Given the description of an element on the screen output the (x, y) to click on. 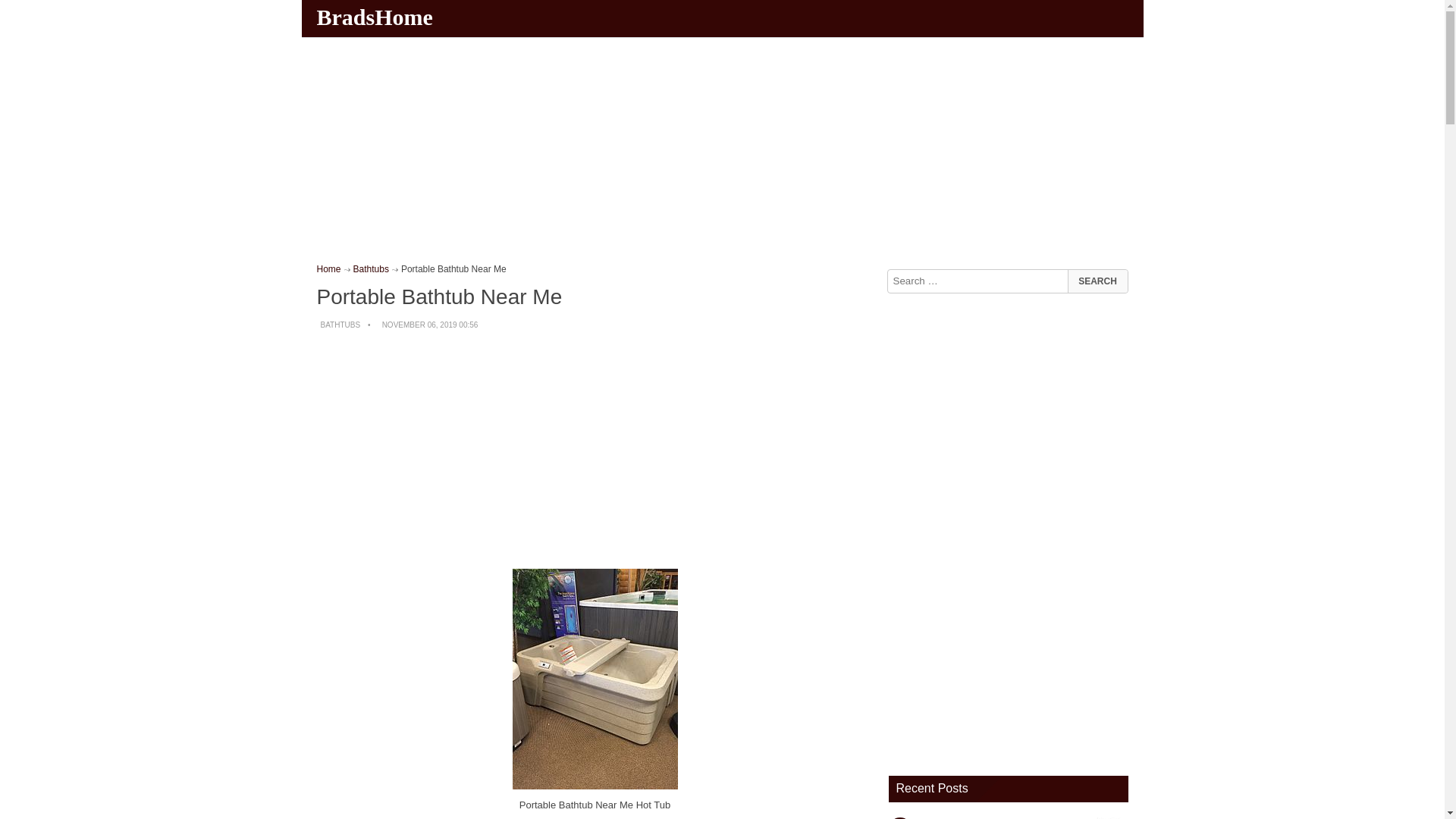
Search (1096, 281)
BATHTUBS (339, 325)
BradsHome (376, 16)
Advertisement (595, 449)
Bathtubs (370, 268)
Search (1096, 281)
Search (1096, 281)
Home (328, 268)
